Given the description of an element on the screen output the (x, y) to click on. 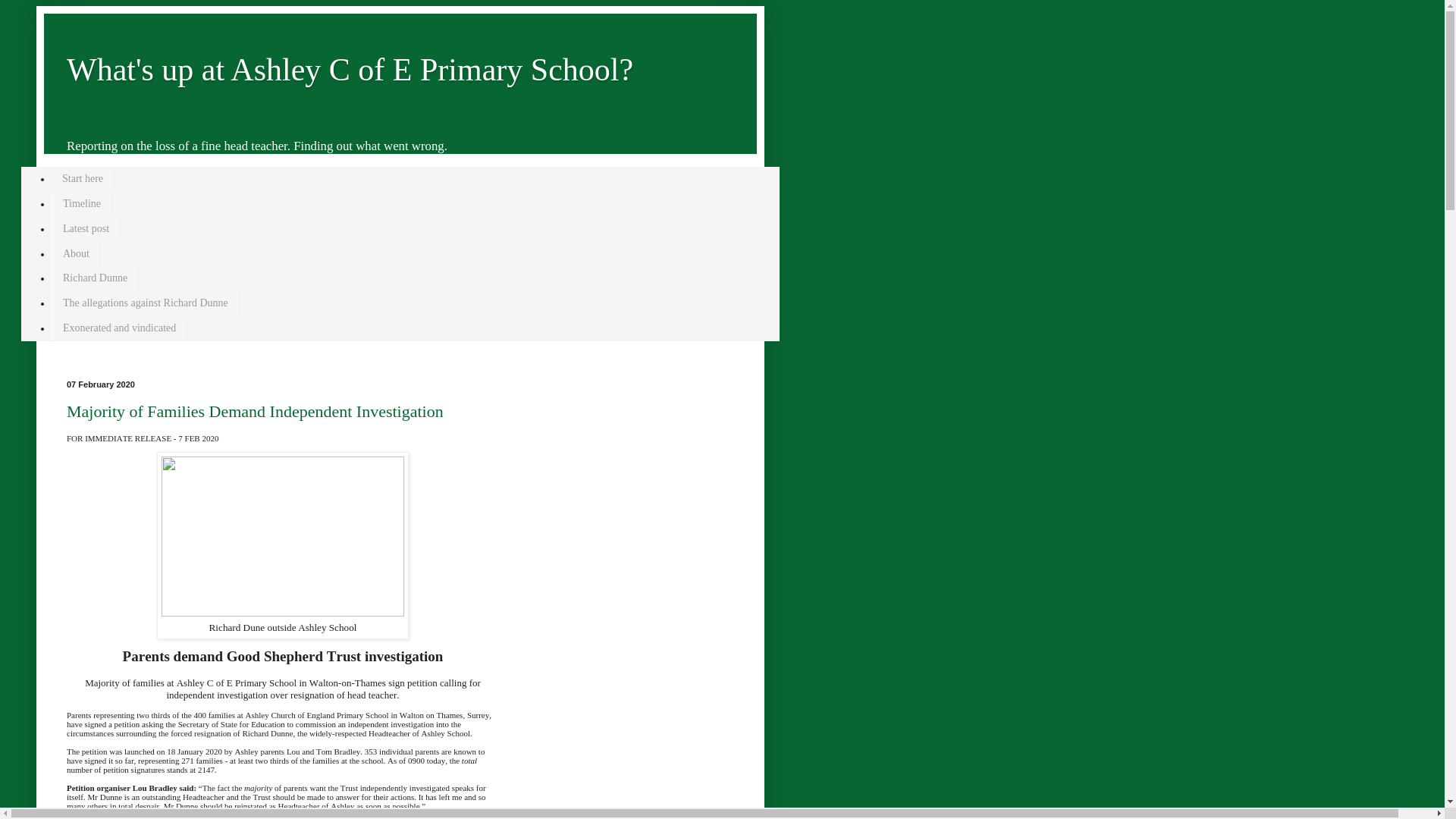
The allegations against Richard Dunne (145, 303)
Majority of Families Demand Independent Investigation (255, 411)
Richard Dunne (94, 278)
What's up at Ashley C of E Primary School? (349, 69)
Timeline (81, 204)
Latest post (85, 228)
Start here (82, 179)
About (75, 253)
Exonerated and vindicated (118, 328)
